Given the description of an element on the screen output the (x, y) to click on. 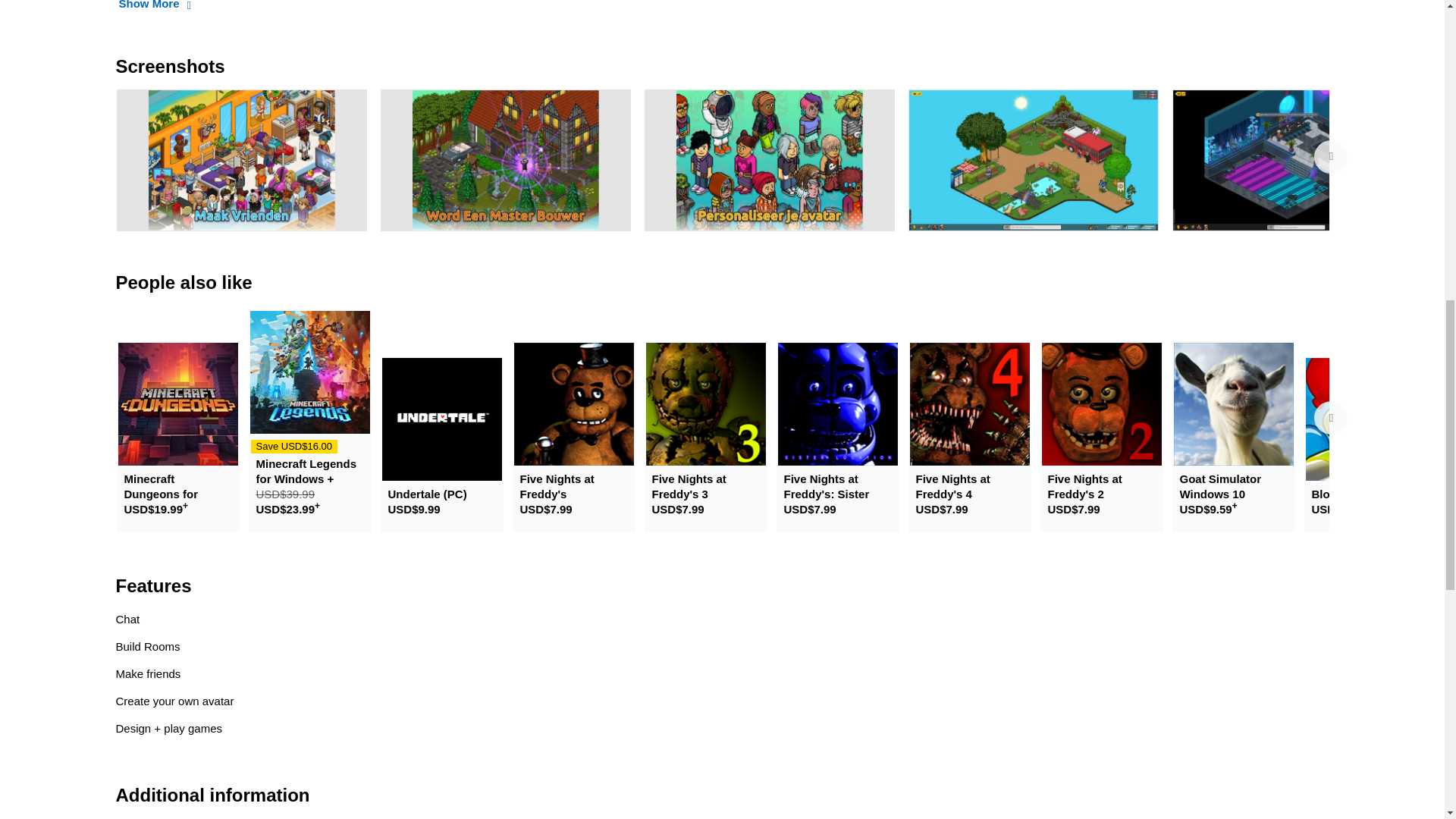
Bloons TD 6 (1365, 418)
Next (1329, 417)
Five Nights at Freddy's (573, 404)
Next (1329, 155)
Five Nights at Freddy's 4 (969, 404)
Five Nights at Freddy's: Sister Location (837, 404)
Goat Simulator Windows 10 (1233, 404)
Five Nights at Freddy's 3 (705, 404)
Five Nights at Freddy's 2 (1101, 404)
